Given the description of an element on the screen output the (x, y) to click on. 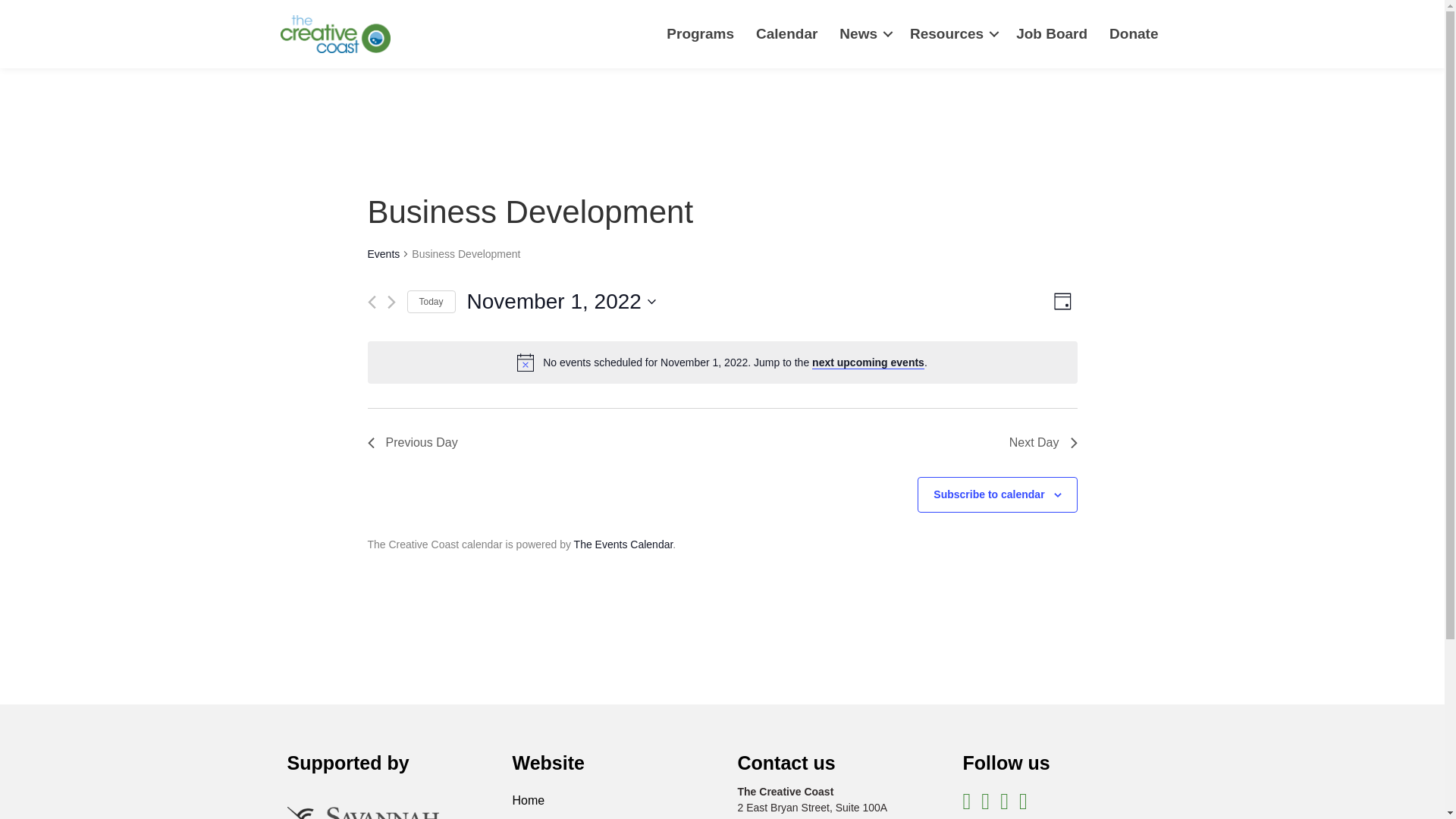
Subscribe to calendar (988, 494)
November 1, 2022 (561, 301)
Calendar (786, 34)
Click to select today's date (430, 301)
Previous Day (411, 442)
The Creative Coast Logo - full PNG Logo (335, 34)
Previous Day (411, 442)
Follow us (1005, 762)
Resources (951, 34)
News (863, 34)
Next Day (1043, 442)
Events (382, 254)
Donate (1134, 34)
Contact us (785, 762)
Job Board (1051, 34)
